Given the description of an element on the screen output the (x, y) to click on. 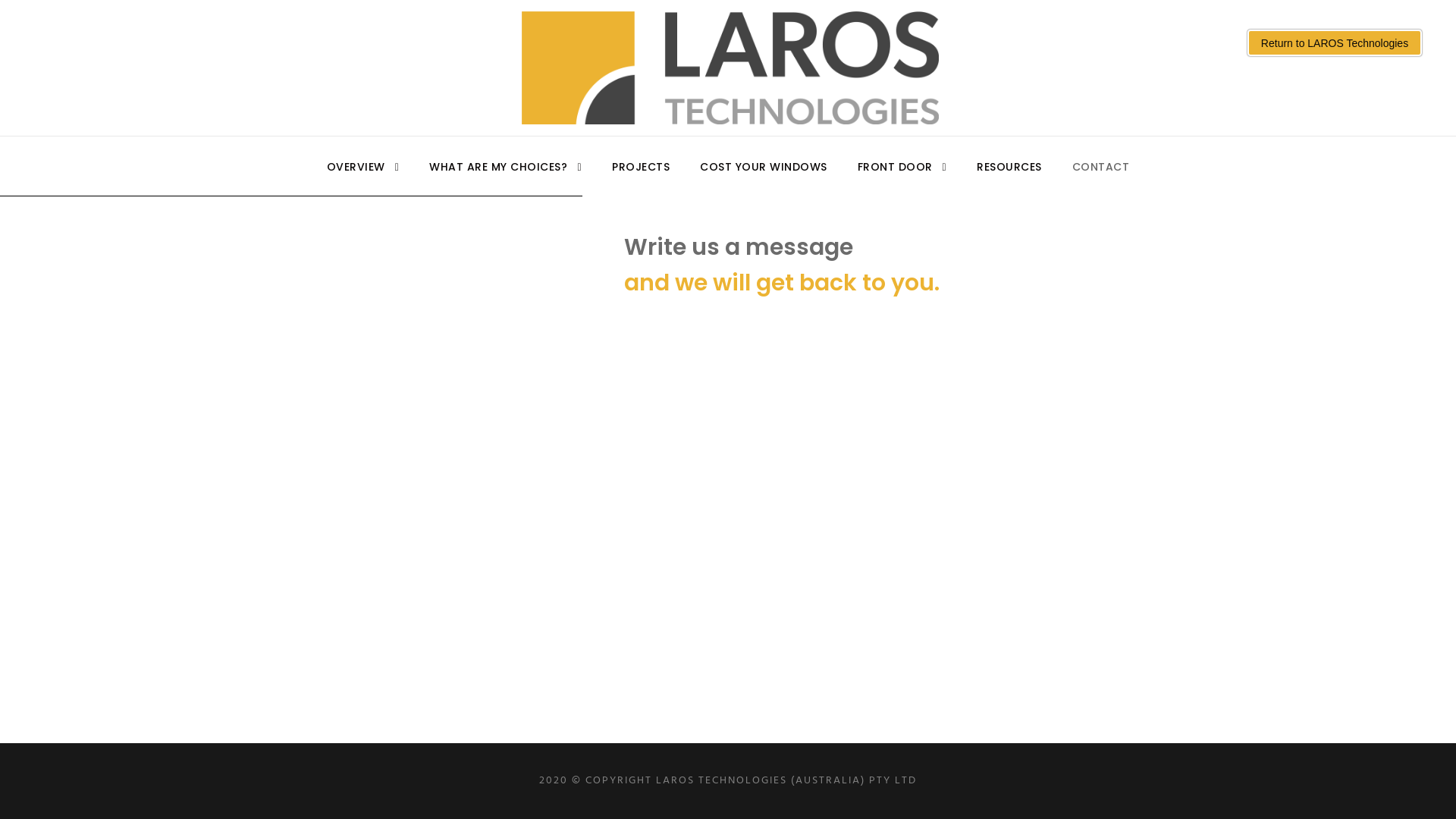
FRONT DOOR Element type: text (902, 176)
Return to LAROS Technologies Element type: text (1334, 42)
CONTACT Element type: text (1100, 176)
PROJECTS Element type: text (640, 176)
COST YOUR WINDOWS Element type: text (763, 176)
RESOURCES Element type: text (1008, 176)
OVERVIEW Element type: text (362, 176)
WHAT ARE MY CHOICES? Element type: text (505, 176)
